Given the description of an element on the screen output the (x, y) to click on. 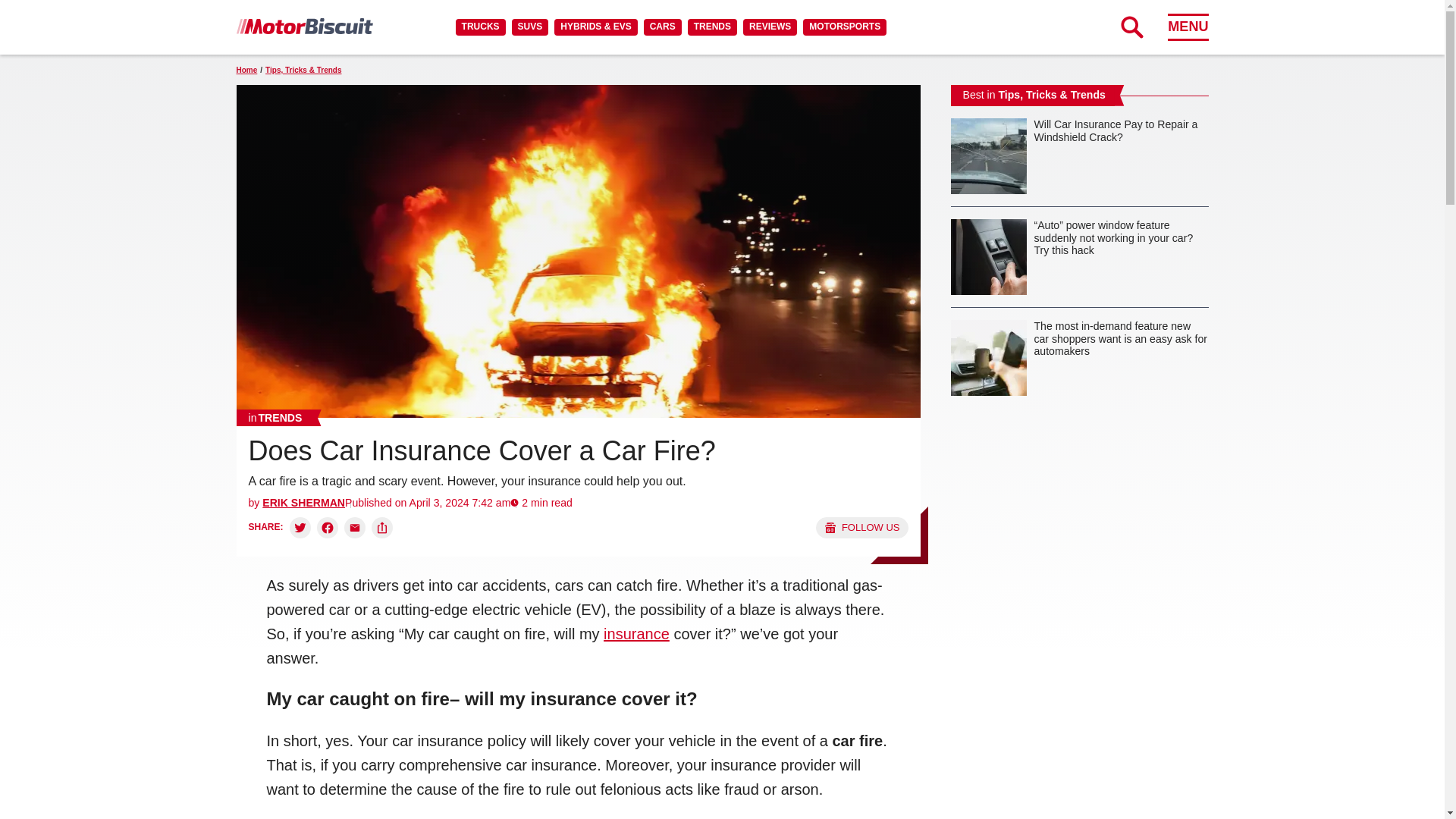
MotorBiscuit (303, 26)
TRENDS (711, 26)
Expand Search (1131, 26)
Trends (274, 417)
REVIEWS (769, 26)
Copy link and share:  (382, 527)
MENU (1187, 26)
TRUCKS (480, 26)
Follow us on Google News (861, 527)
